Given the description of an element on the screen output the (x, y) to click on. 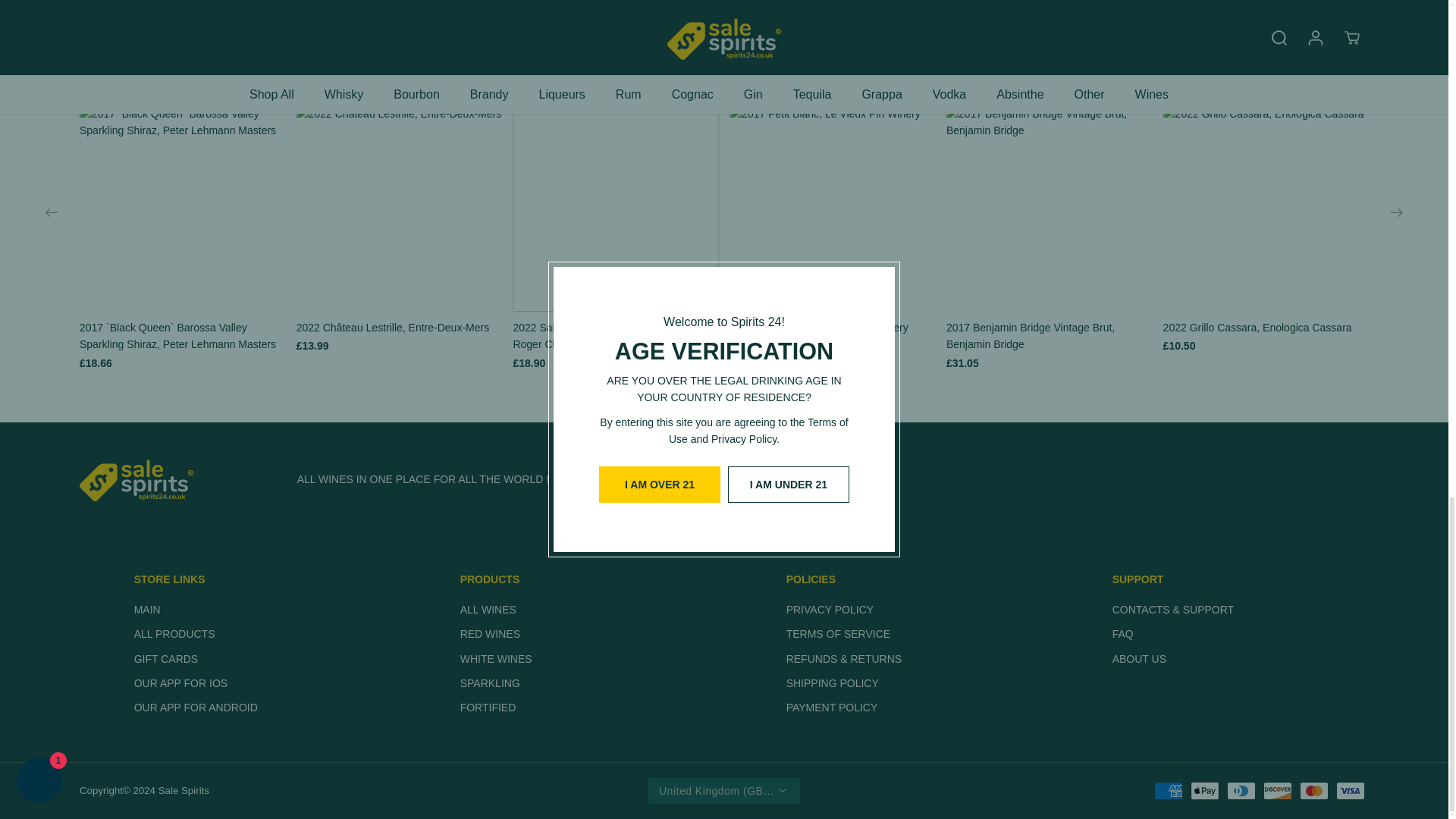
Visa (1350, 791)
American Express (1168, 791)
Apple Pay (1205, 791)
Mastercard (1313, 791)
Discover (1277, 791)
Diners Club (1241, 791)
2022 Sancerre 'Les Pierris', Domaine Roger Champault (615, 335)
